Given the description of an element on the screen output the (x, y) to click on. 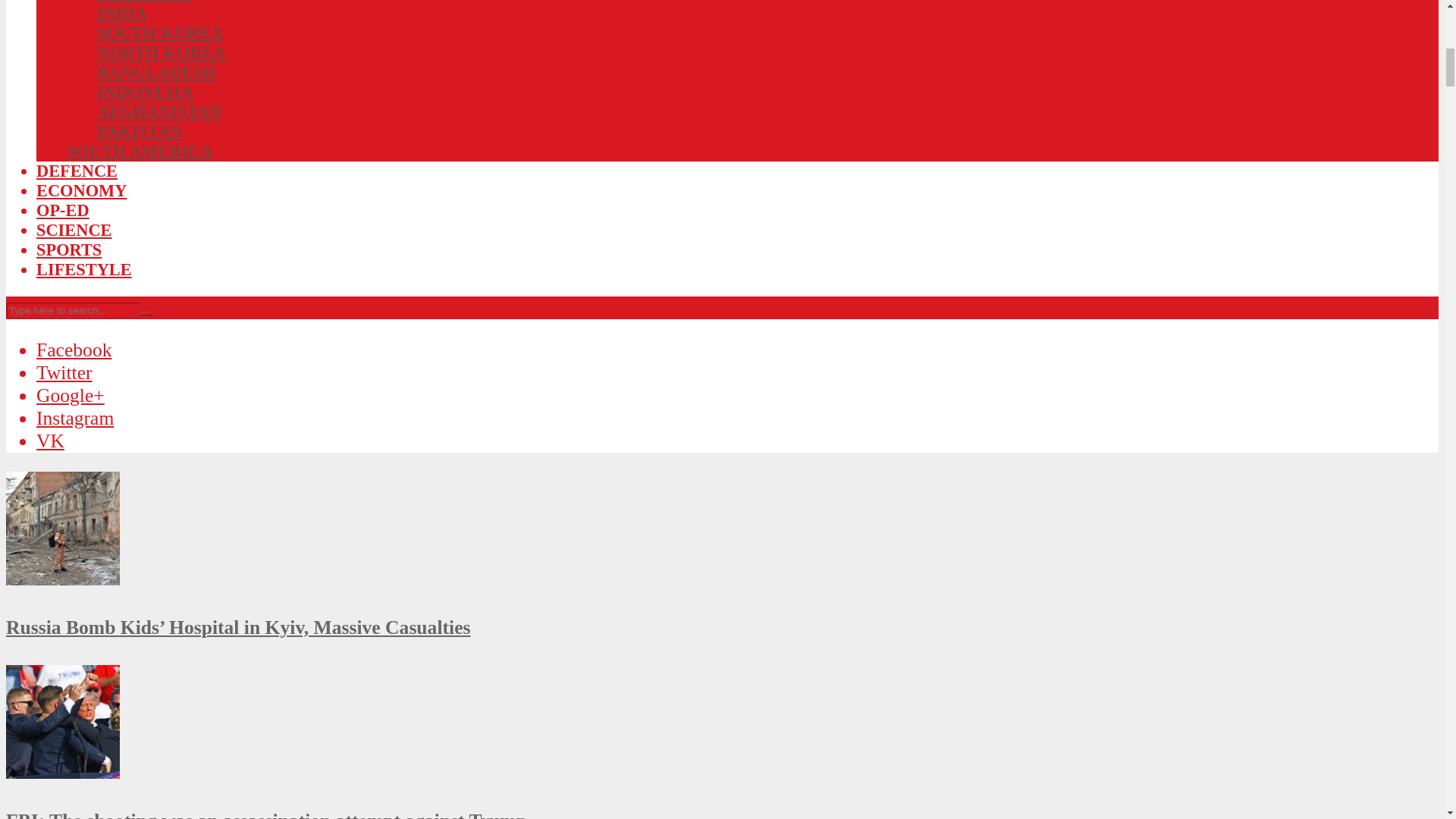
SOUTH KOREA (159, 32)
BANGLADESH (156, 72)
INDONESIA (145, 91)
FBI: The shooting was an assassination attempt against Trump (62, 771)
SRI LANKA (143, 1)
NORTH KOREA (161, 52)
AFGHANISTAN (159, 111)
INDIA (122, 13)
